Given the description of an element on the screen output the (x, y) to click on. 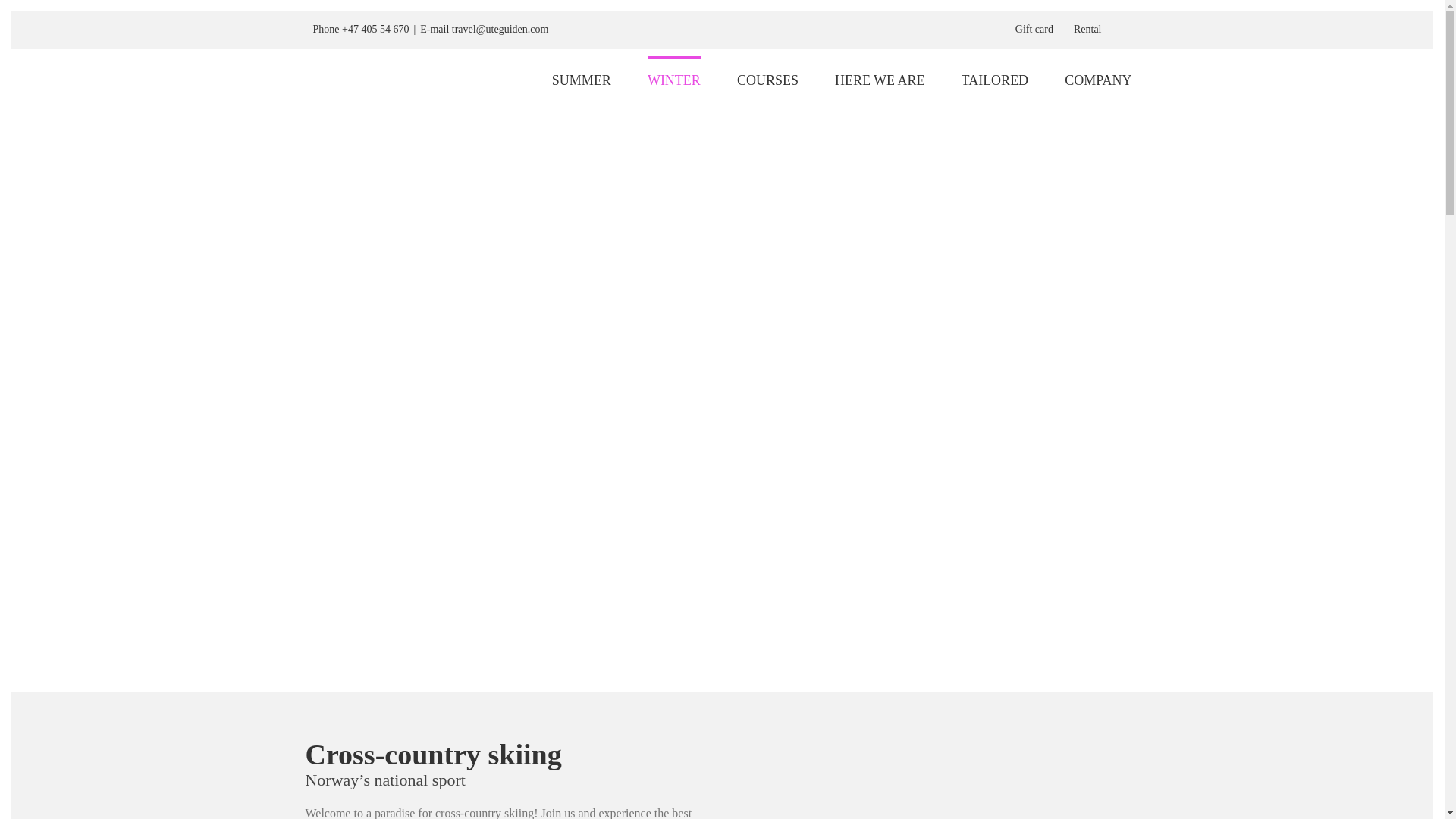
TAILORED (994, 78)
WINTER (673, 78)
Rental (1088, 29)
langenn-staking (938, 778)
HERE WE ARE (879, 78)
SUMMER (581, 78)
Gift card (1034, 29)
COURSES (766, 78)
